Given the description of an element on the screen output the (x, y) to click on. 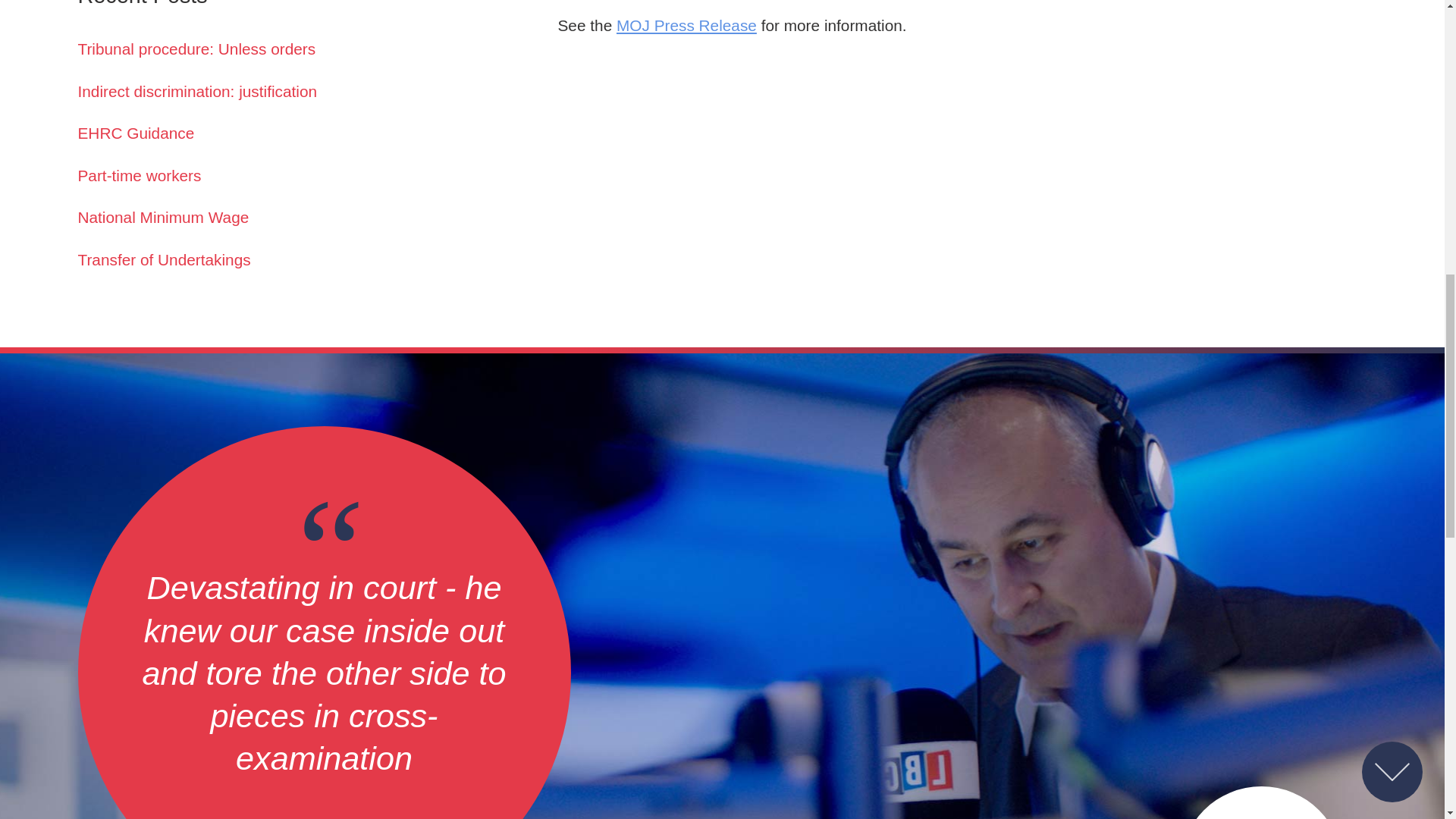
MOJ Press Release (686, 25)
